Given the description of an element on the screen output the (x, y) to click on. 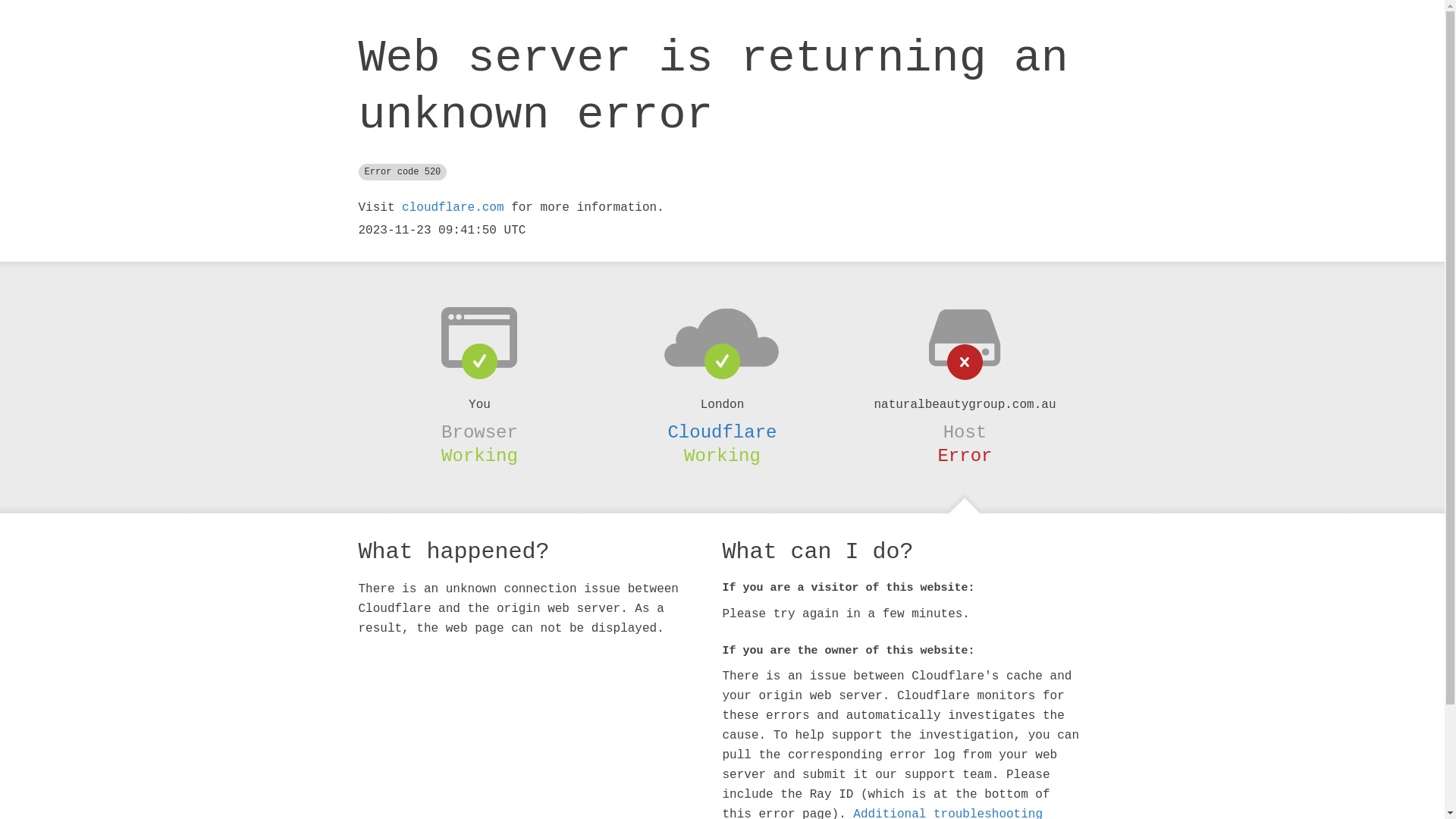
cloudflare.com Element type: text (452, 207)
Cloudflare Element type: text (721, 432)
